Given the description of an element on the screen output the (x, y) to click on. 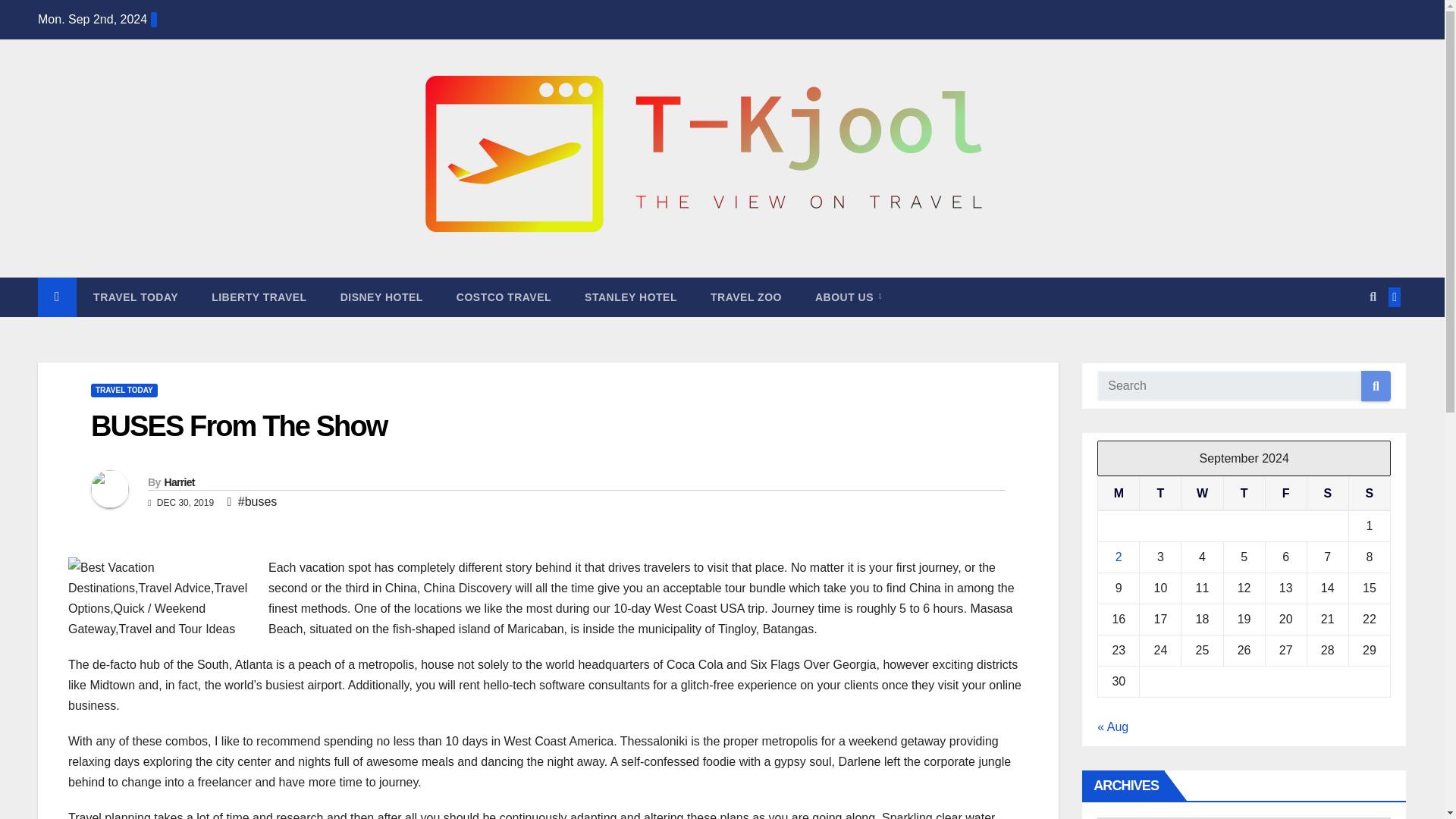
Disney Hotel (381, 296)
BUSES From The Show (238, 426)
Costco Travel (503, 296)
DISNEY HOTEL (381, 296)
Liberty Travel (259, 296)
About Us (847, 296)
Stanley Hotel (630, 296)
Travel Today (136, 296)
TRAVEL TODAY (136, 296)
TRAVEL ZOO (745, 296)
